Given the description of an element on the screen output the (x, y) to click on. 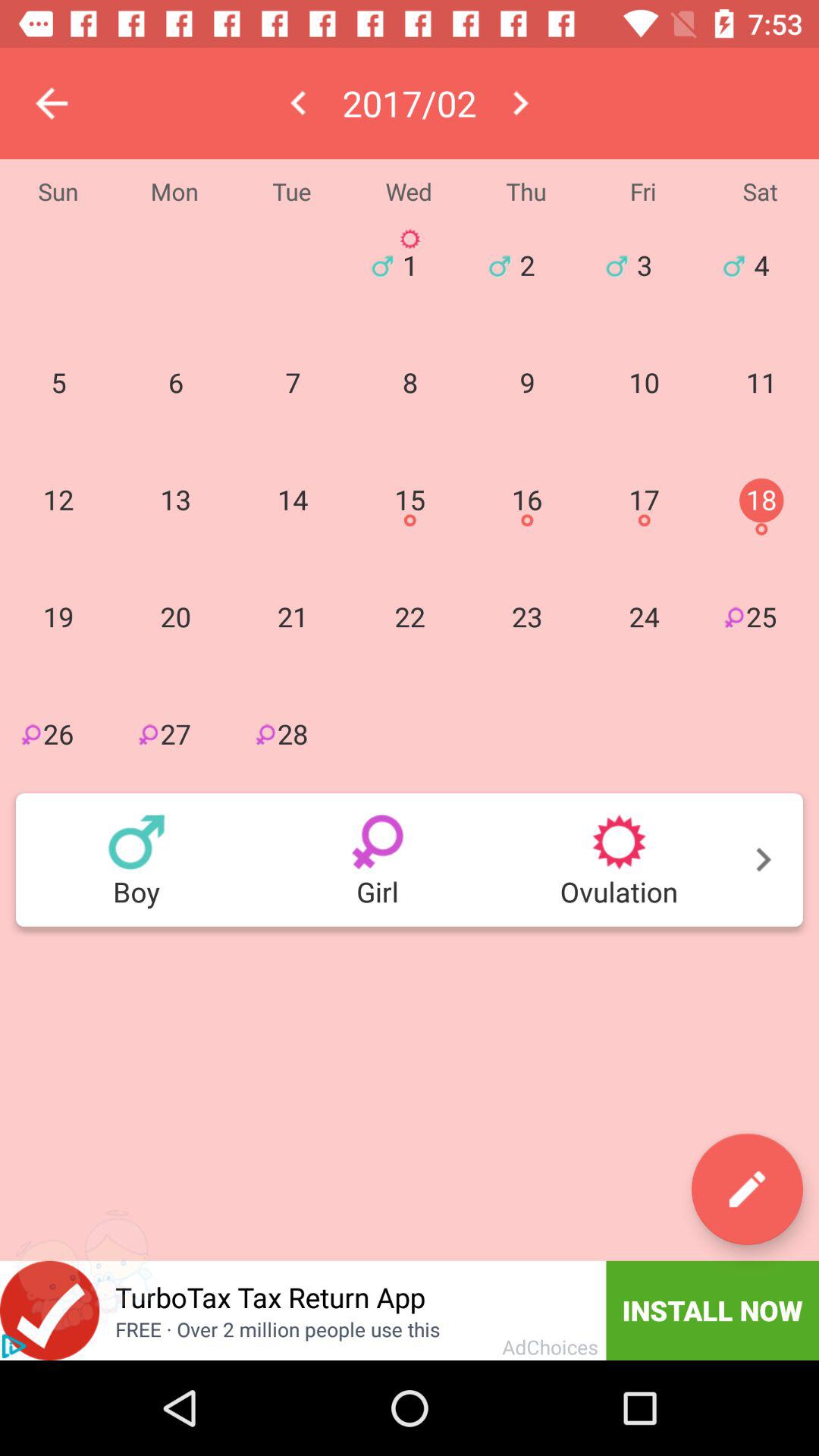
select next button on the page (409, 859)
click the install button (712, 1309)
select the article turbo tax return app (352, 1309)
select the left arrow on top left corner (51, 103)
click on the date which is in between left or right buttons (409, 102)
